Given the description of an element on the screen output the (x, y) to click on. 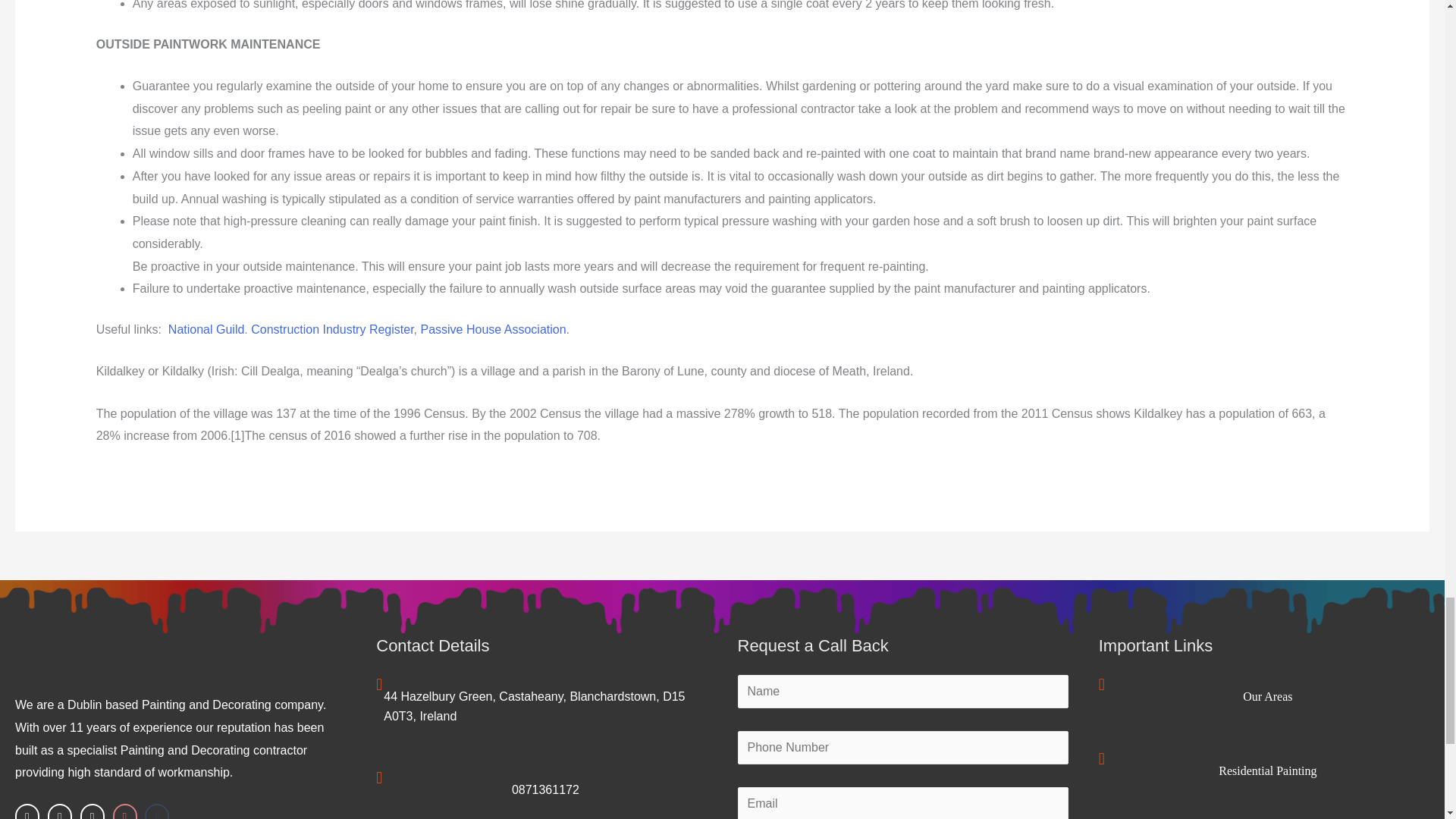
 on Facebook (26, 811)
0871361172 (545, 789)
 on Tumblr (156, 811)
 on Pinterest (124, 811)
Passive House Association (493, 328)
 on Google (92, 811)
National Guild (206, 328)
 on Twitter (59, 811)
Construction Industry Register (331, 328)
